Given the description of an element on the screen output the (x, y) to click on. 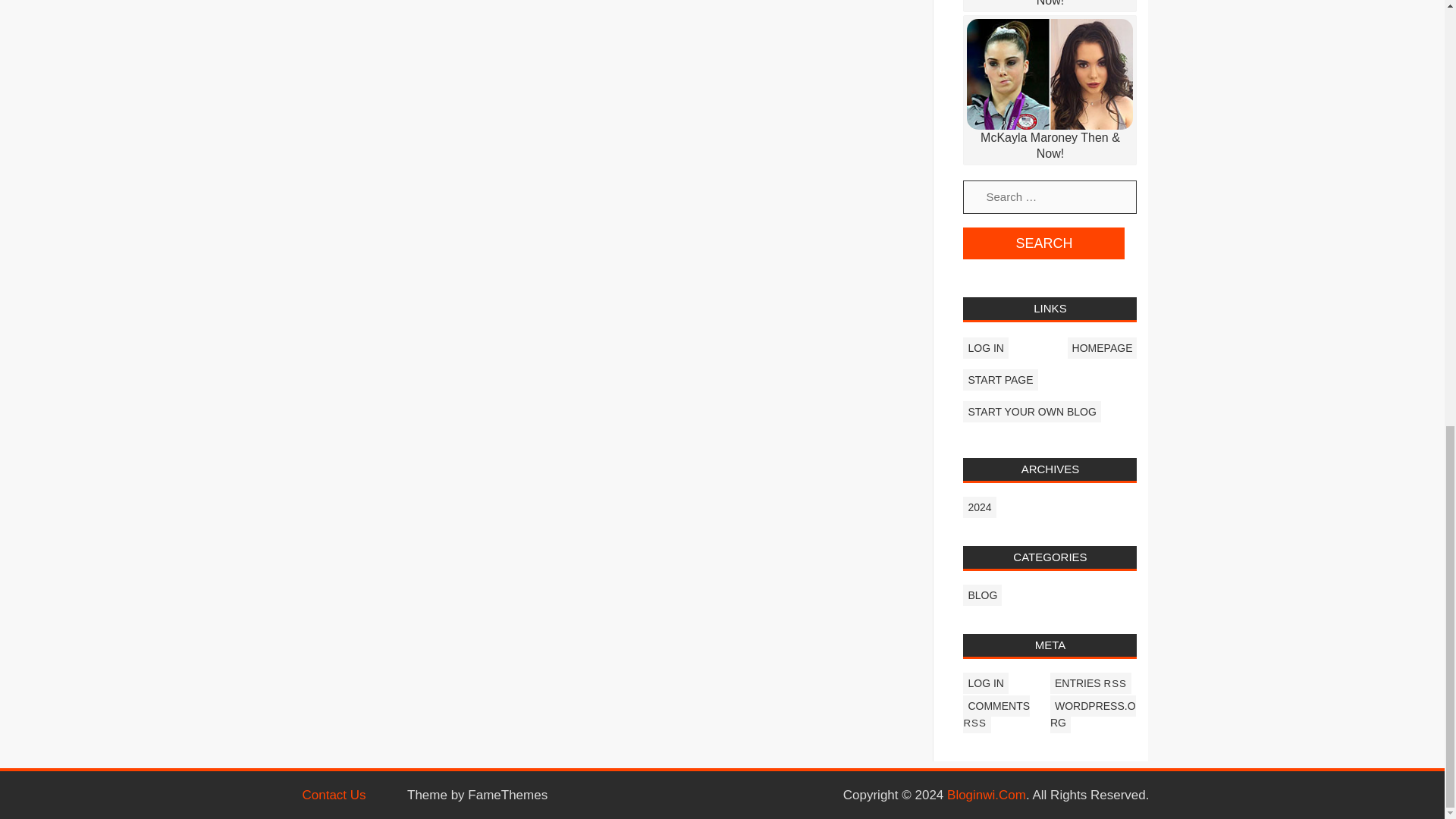
2024 (978, 506)
COMMENTS RSS (995, 714)
Bloginwi.Com (986, 796)
HOMEPAGE (1102, 347)
WORDPRESS.ORG (1092, 714)
BLOG (981, 595)
LOG IN (984, 682)
Really Simple Syndication (1114, 683)
Really Simple Syndication (973, 722)
ENTRIES RSS (1090, 682)
